Given the description of an element on the screen output the (x, y) to click on. 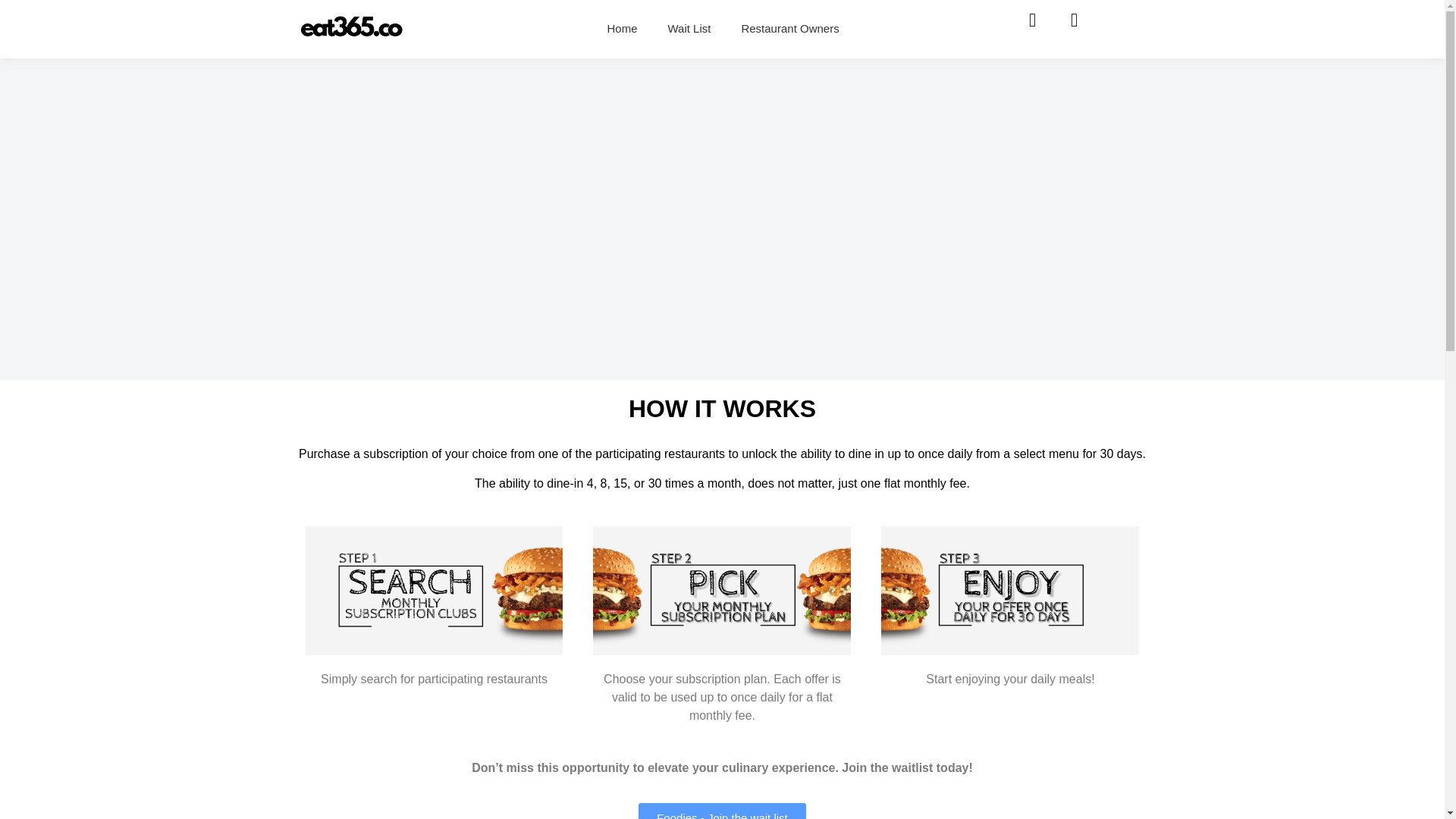
Foodies - Join the wait list (722, 811)
Restaurant Owners (789, 28)
Wait List (688, 28)
